Given the description of an element on the screen output the (x, y) to click on. 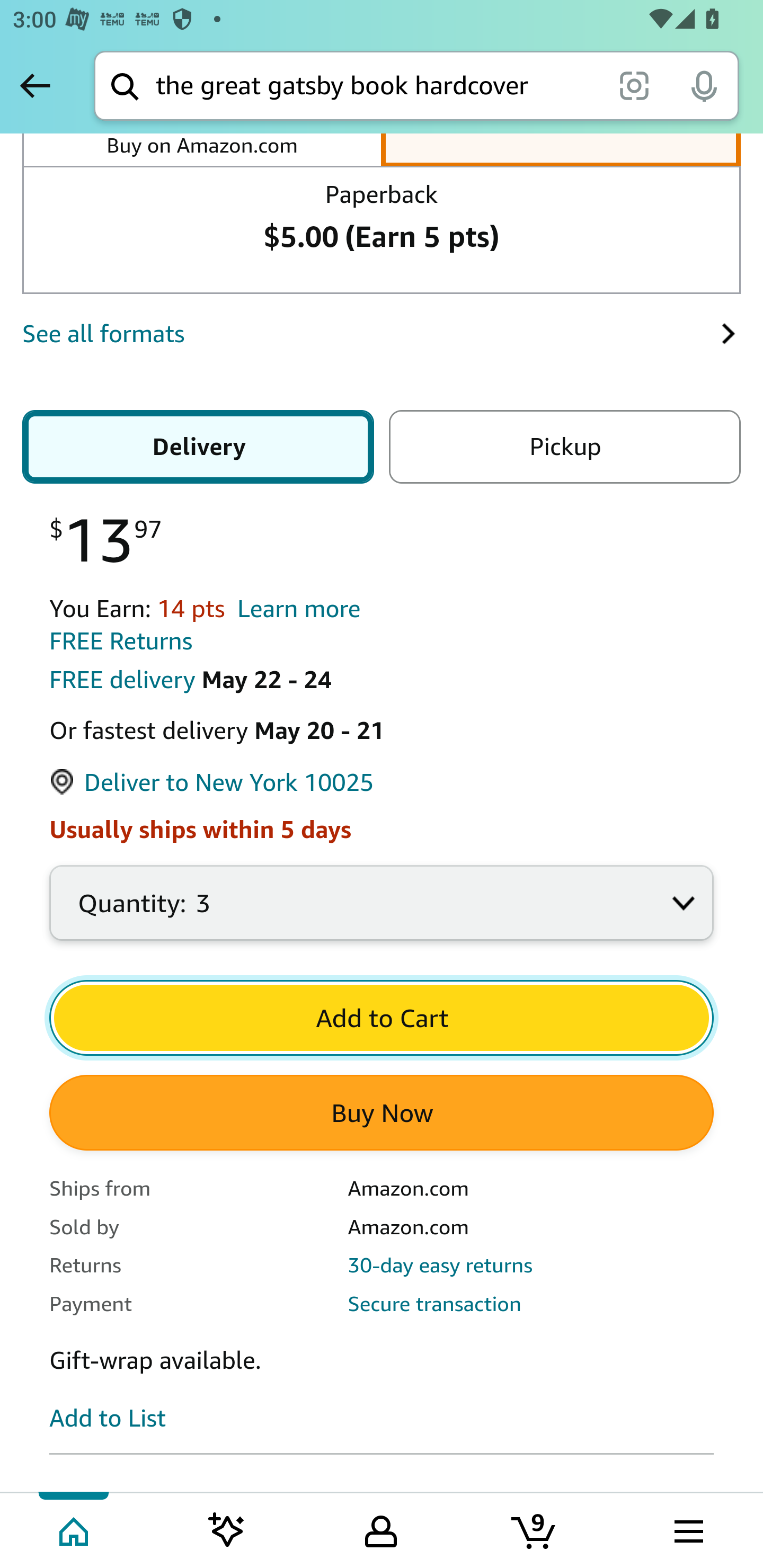
Back (35, 85)
scan it (633, 85)
See all formats (371, 333)
Delivery (201, 446)
Pickup (560, 446)
Learn more (298, 609)
FREE Returns (121, 641)
FREE delivery (122, 679)
Deliver to New York 10025‌ (212, 783)
3 (381, 912)
Add to Cart (381, 1017)
Buy Now (381, 1112)
Add to List (108, 1418)
Home Tab 1 of 5 (75, 1529)
Inspire feed Tab 2 of 5 (227, 1529)
Your Amazon.com Tab 3 of 5 (380, 1529)
Cart 9 items Tab 4 of 5 9 (534, 1529)
Browse menu Tab 5 of 5 (687, 1529)
